Given the description of an element on the screen output the (x, y) to click on. 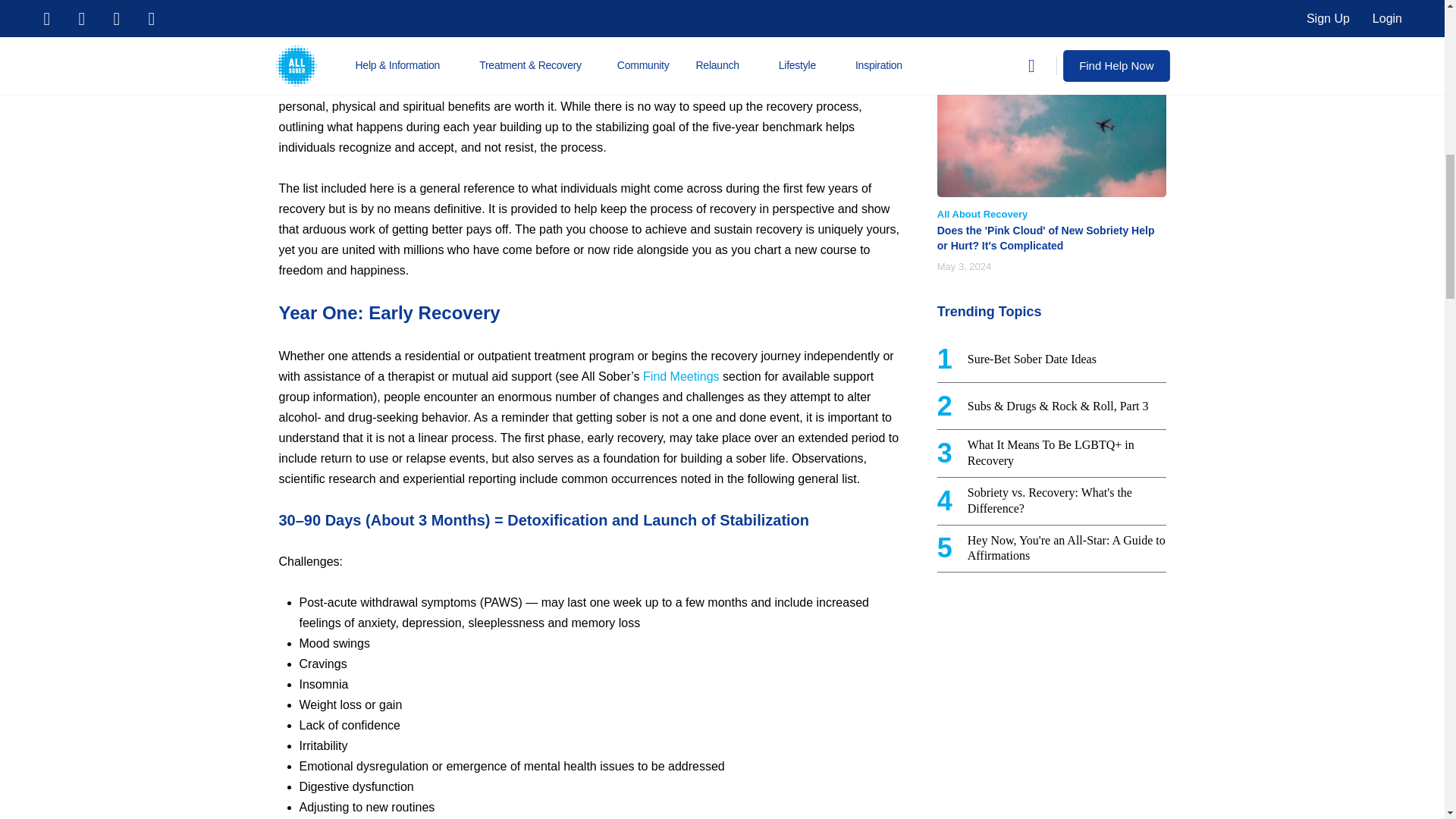
Flying through pink clouds - All Sober (1051, 139)
